Given the description of an element on the screen output the (x, y) to click on. 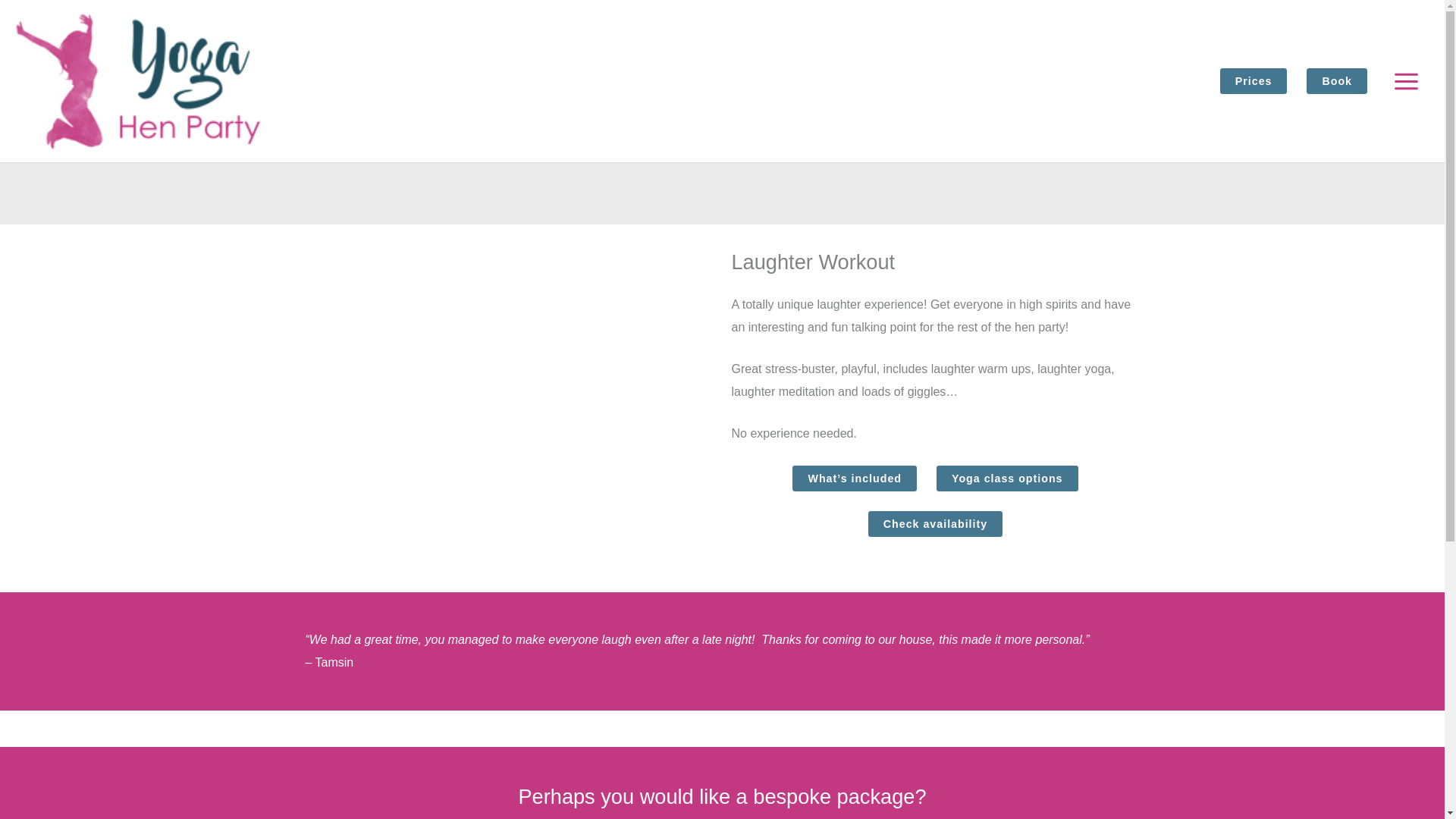
Check availability (935, 523)
Book (1337, 81)
Main Menu (1406, 80)
Yoga class options (1007, 478)
Prices (1254, 81)
